Given the description of an element on the screen output the (x, y) to click on. 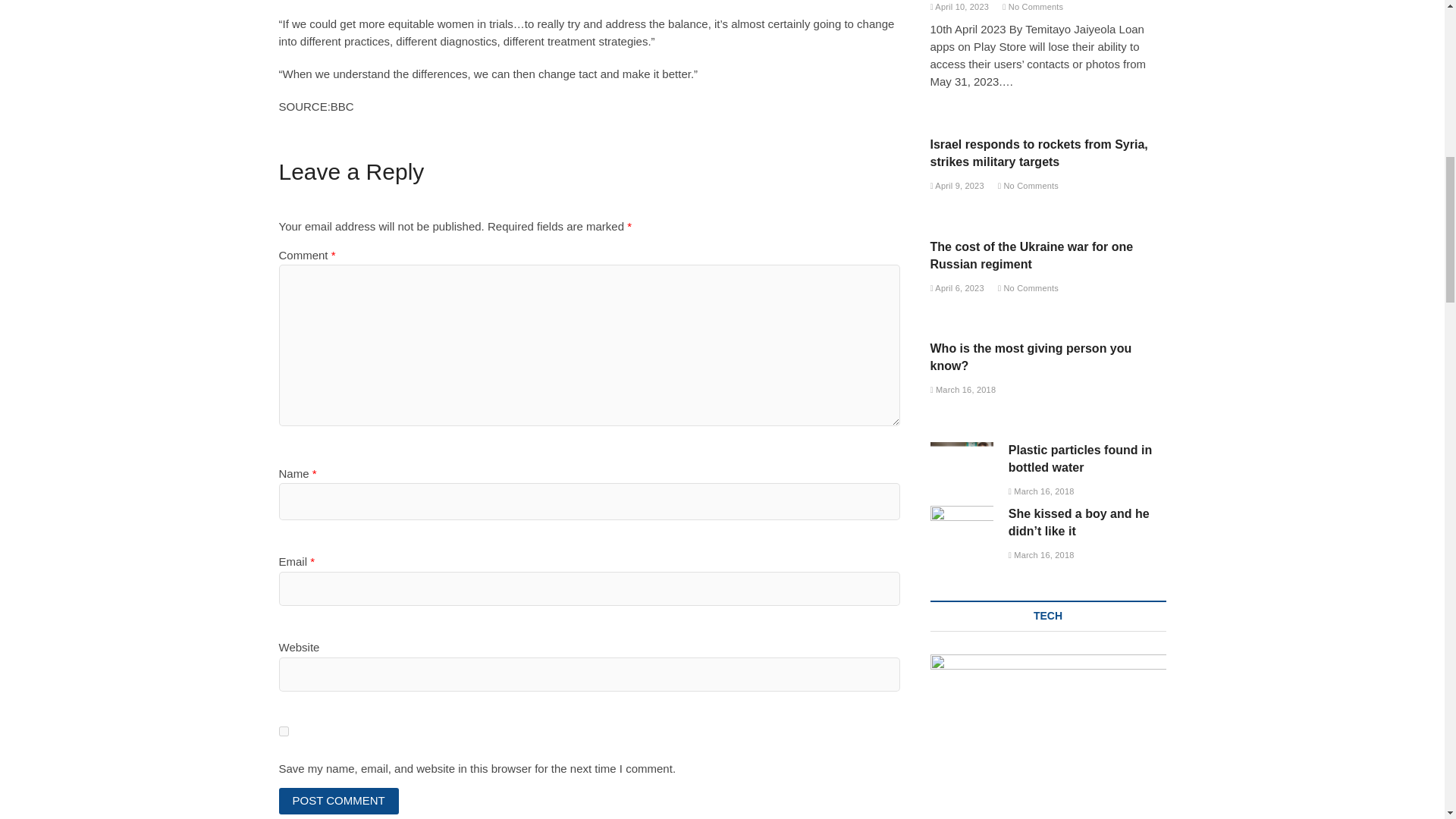
April 9, 2023 (957, 185)
March 16, 2018 (962, 388)
yes (283, 731)
The cost of the Ukraine war for one Russian regiment (1031, 255)
April 6, 2023 (957, 287)
Who is the most giving person you know? (1030, 357)
April 10, 2023 (959, 6)
Post Comment (338, 800)
Post Comment (338, 800)
